Given the description of an element on the screen output the (x, y) to click on. 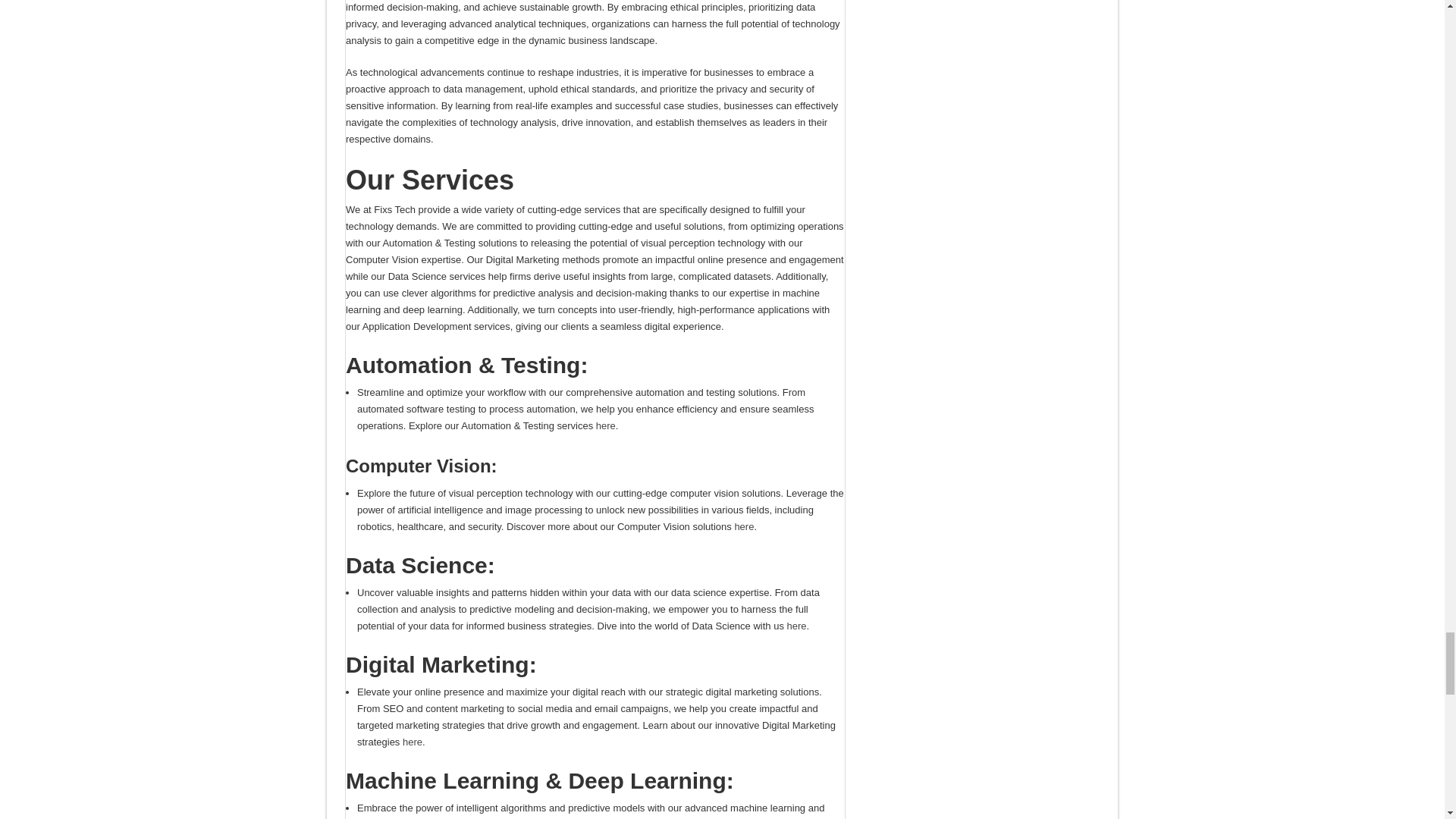
here (743, 526)
here (412, 741)
here (796, 625)
here (605, 425)
